Given the description of an element on the screen output the (x, y) to click on. 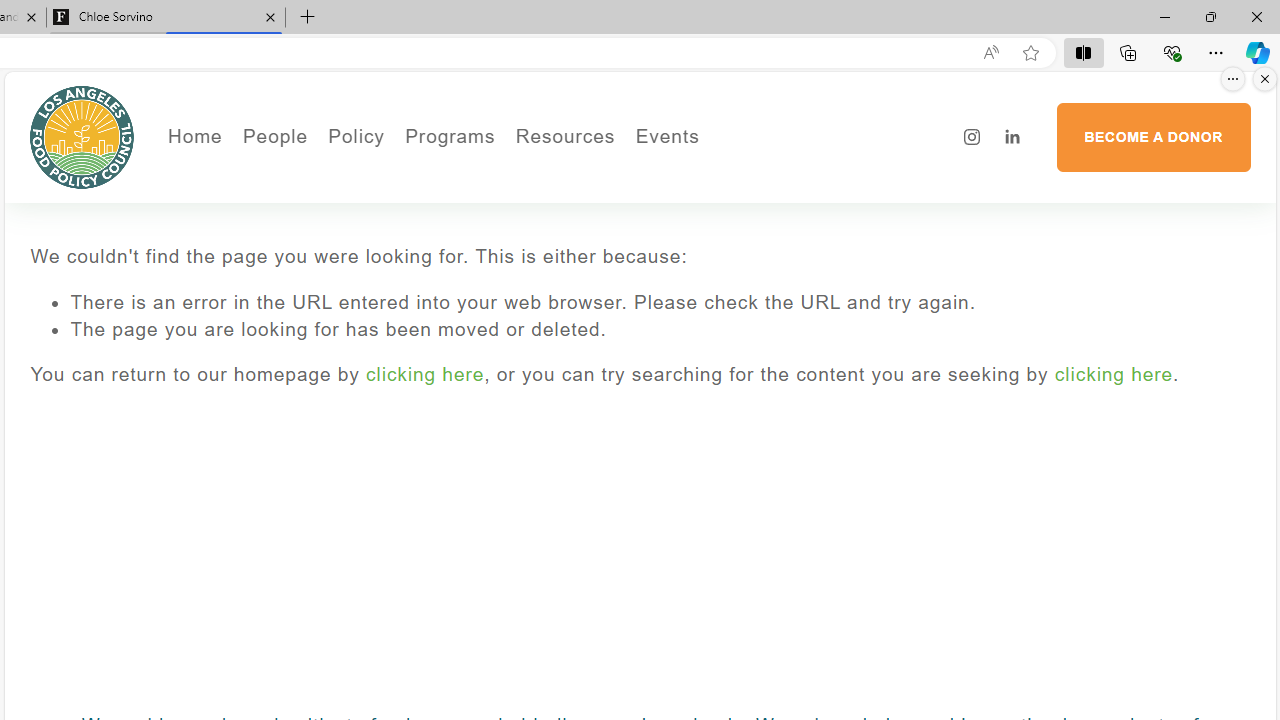
Policy (356, 136)
Food Rescue Macro Grants (643, 232)
Blog (341, 261)
BECOME A DONOR (1153, 137)
LA Foodscapes (734, 205)
Instagram (972, 137)
People (341, 205)
LinkedIn (1012, 137)
Cultivating Farmers (504, 232)
About (341, 176)
Los Angeles Food Policy Council (81, 136)
